Given the description of an element on the screen output the (x, y) to click on. 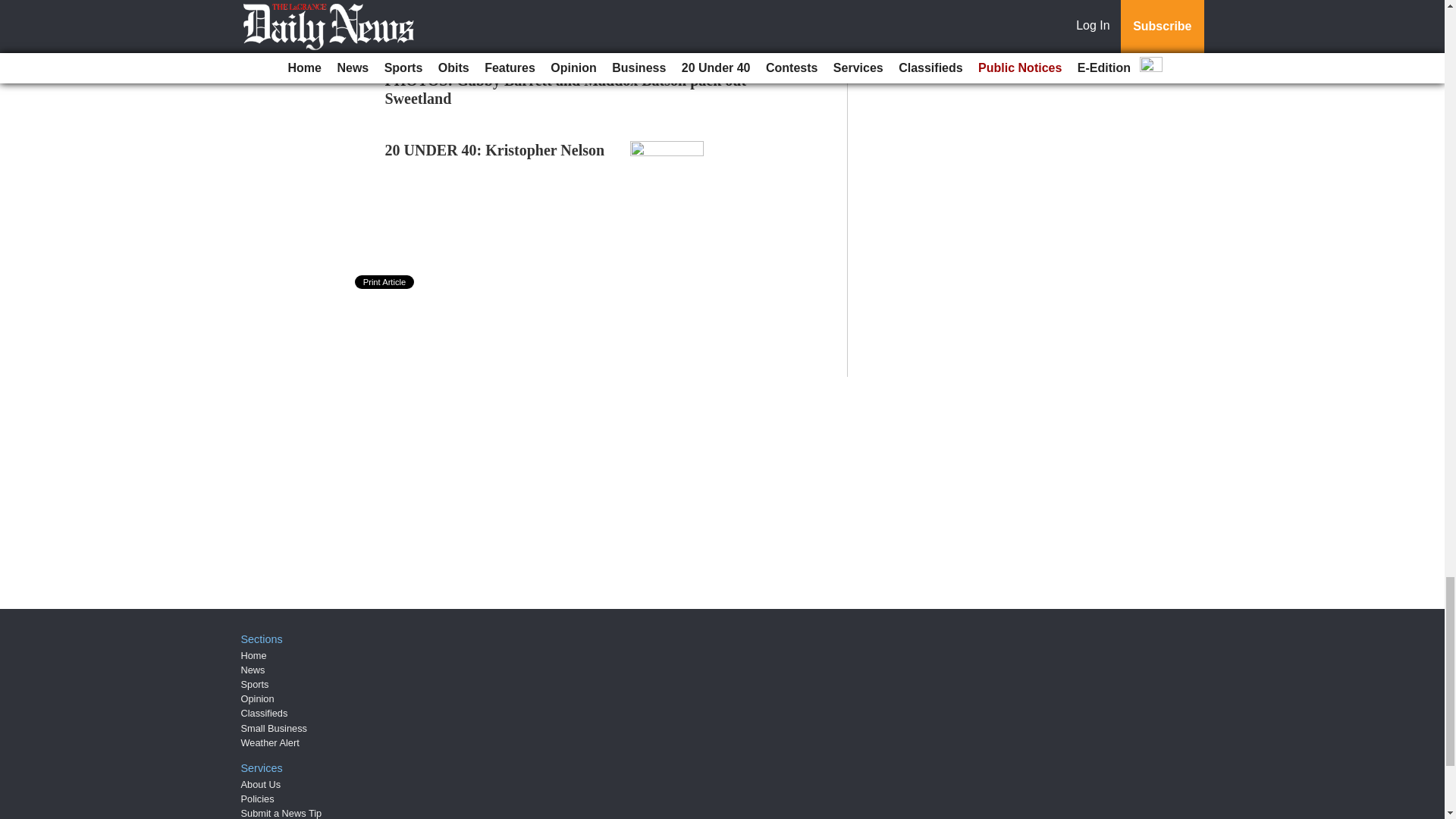
Print Article (384, 282)
20 UNDER 40: Kristopher Nelson (495, 149)
PHOTOS: Gabby Barrett and Maddox Batson pack out Sweetland (565, 89)
20 UNDER 40: Kristopher Nelson (495, 149)
Home (253, 655)
PHOTOS: Gabby Barrett and Maddox Batson pack out Sweetland (565, 89)
